Given the description of an element on the screen output the (x, y) to click on. 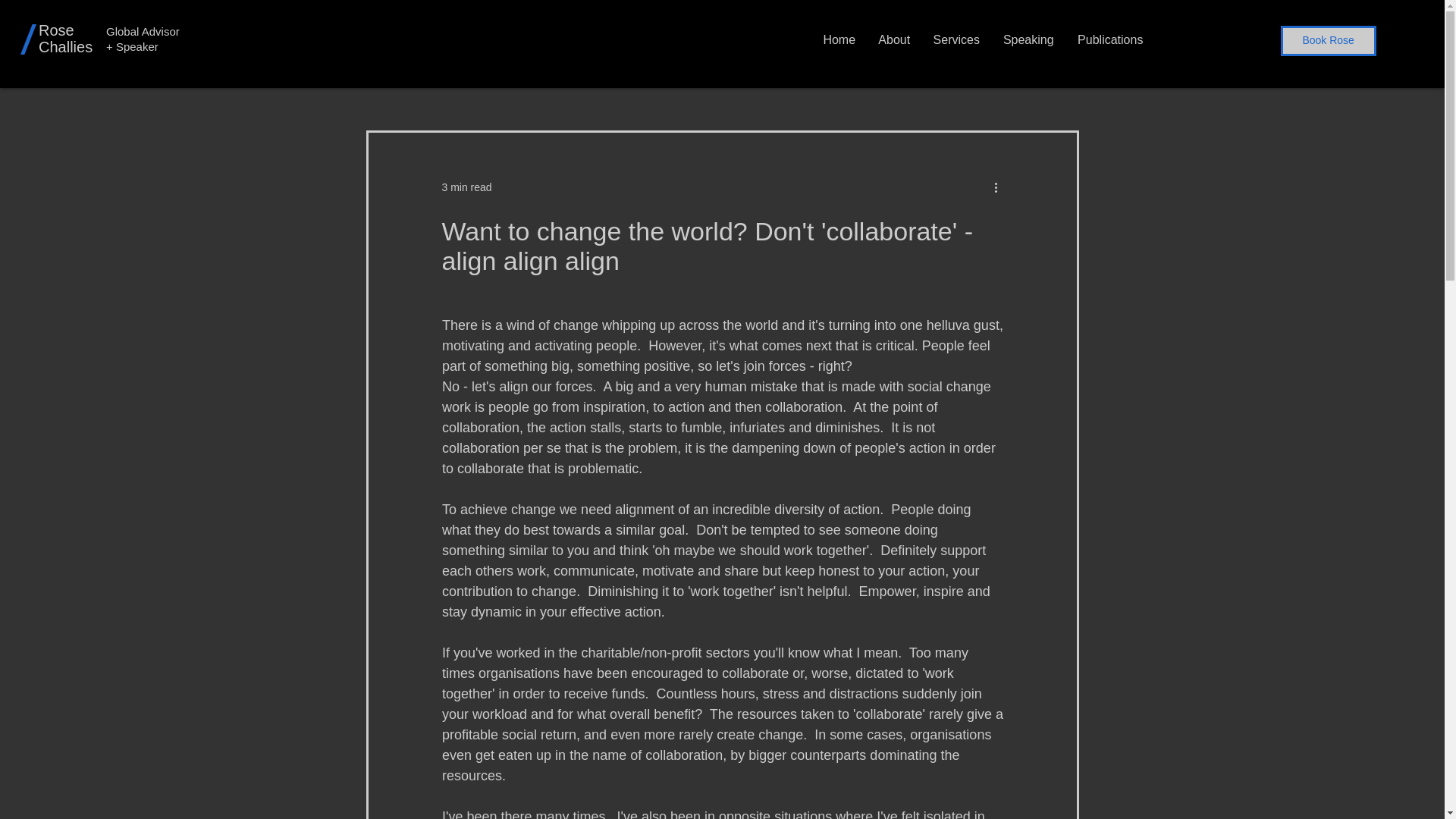
Book Rose (1328, 40)
3 min read (466, 186)
Speaking (1028, 39)
About (893, 39)
Rose Challies (66, 38)
Publications (1109, 39)
Home (838, 39)
Global Advisor (142, 31)
Services (956, 39)
